Given the description of an element on the screen output the (x, y) to click on. 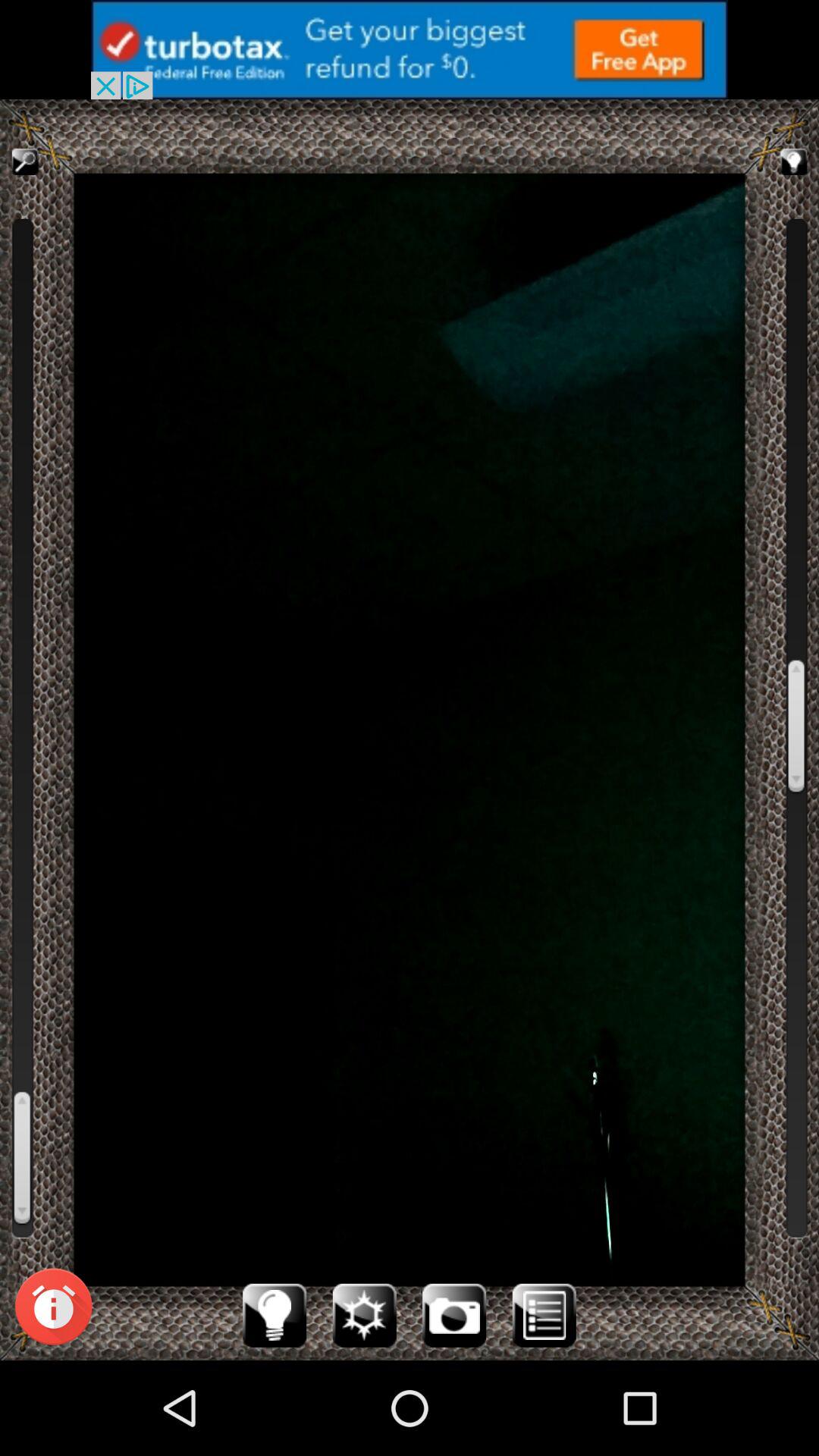
camera icon (454, 1315)
